Given the description of an element on the screen output the (x, y) to click on. 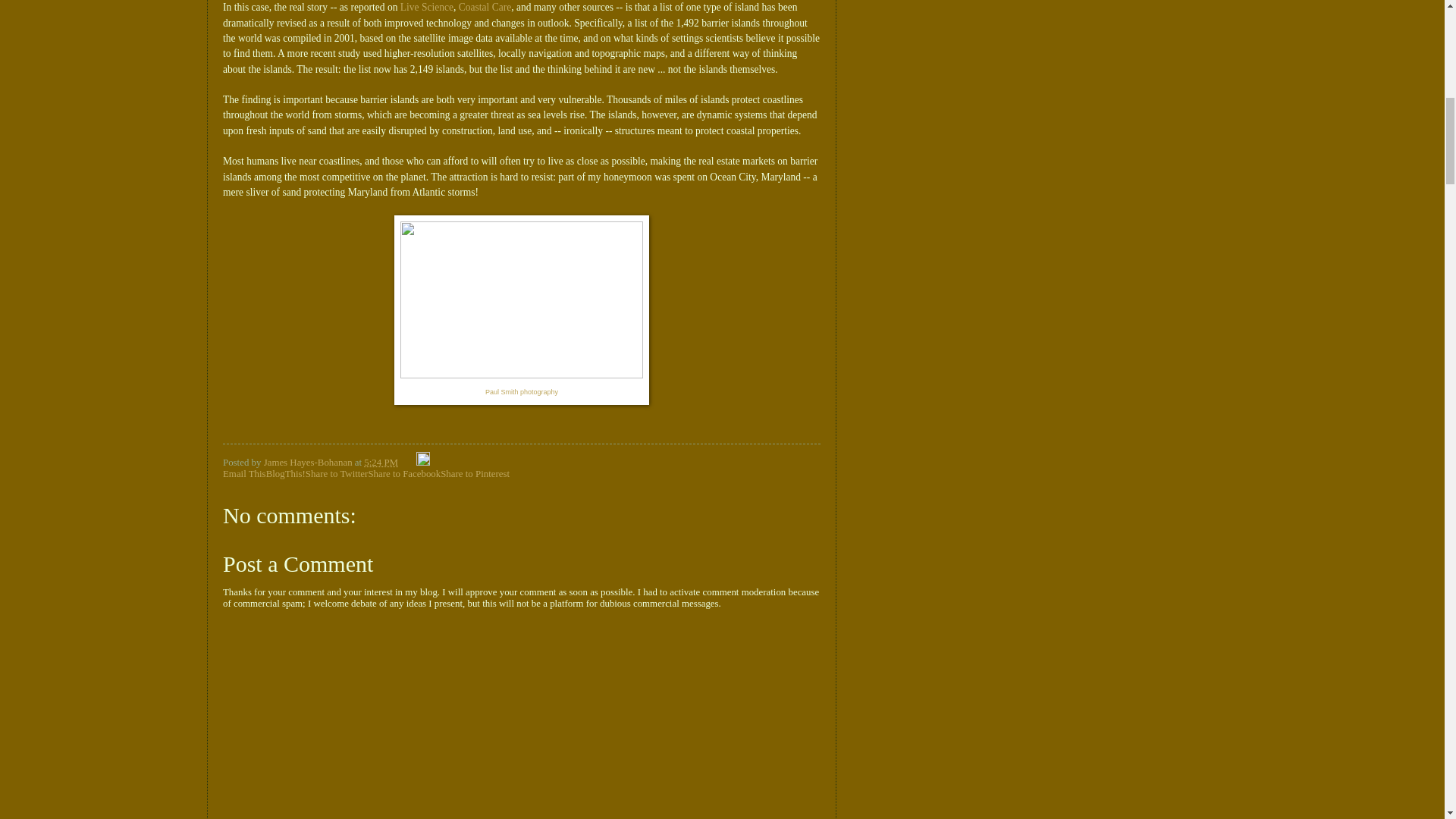
Share to Pinterest (475, 473)
Email This (244, 473)
Email Post (408, 462)
permanent link (380, 462)
Share to Twitter (336, 473)
Coastal Care (484, 7)
Live Science (426, 7)
5:24 PM (380, 462)
Email This (244, 473)
Share to Facebook (404, 473)
Paul Smith photography (520, 390)
author profile (309, 462)
Edit Post (422, 462)
BlogThis! (285, 473)
James Hayes-Bohanan (309, 462)
